Given the description of an element on the screen output the (x, y) to click on. 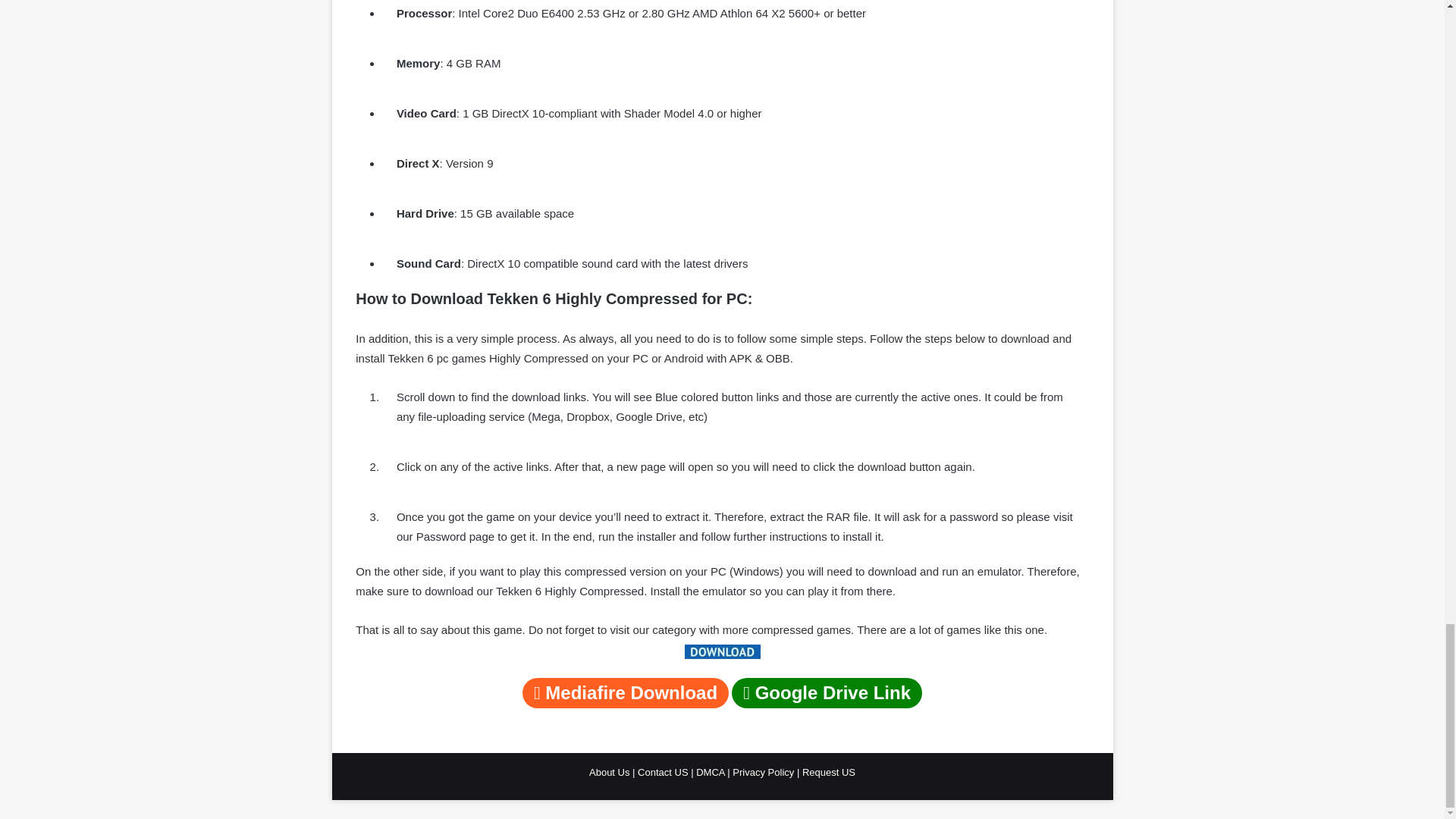
Mediafire Download (625, 693)
Request US (829, 772)
Tekken 6 Highly Compressed Download For Pc Free (722, 651)
DMCA (710, 772)
Google Drive Link (826, 693)
About Us (610, 772)
Contact US (663, 772)
Privacy Policy (764, 772)
Mediafire Download Google Drive Link (721, 694)
